Given the description of an element on the screen output the (x, y) to click on. 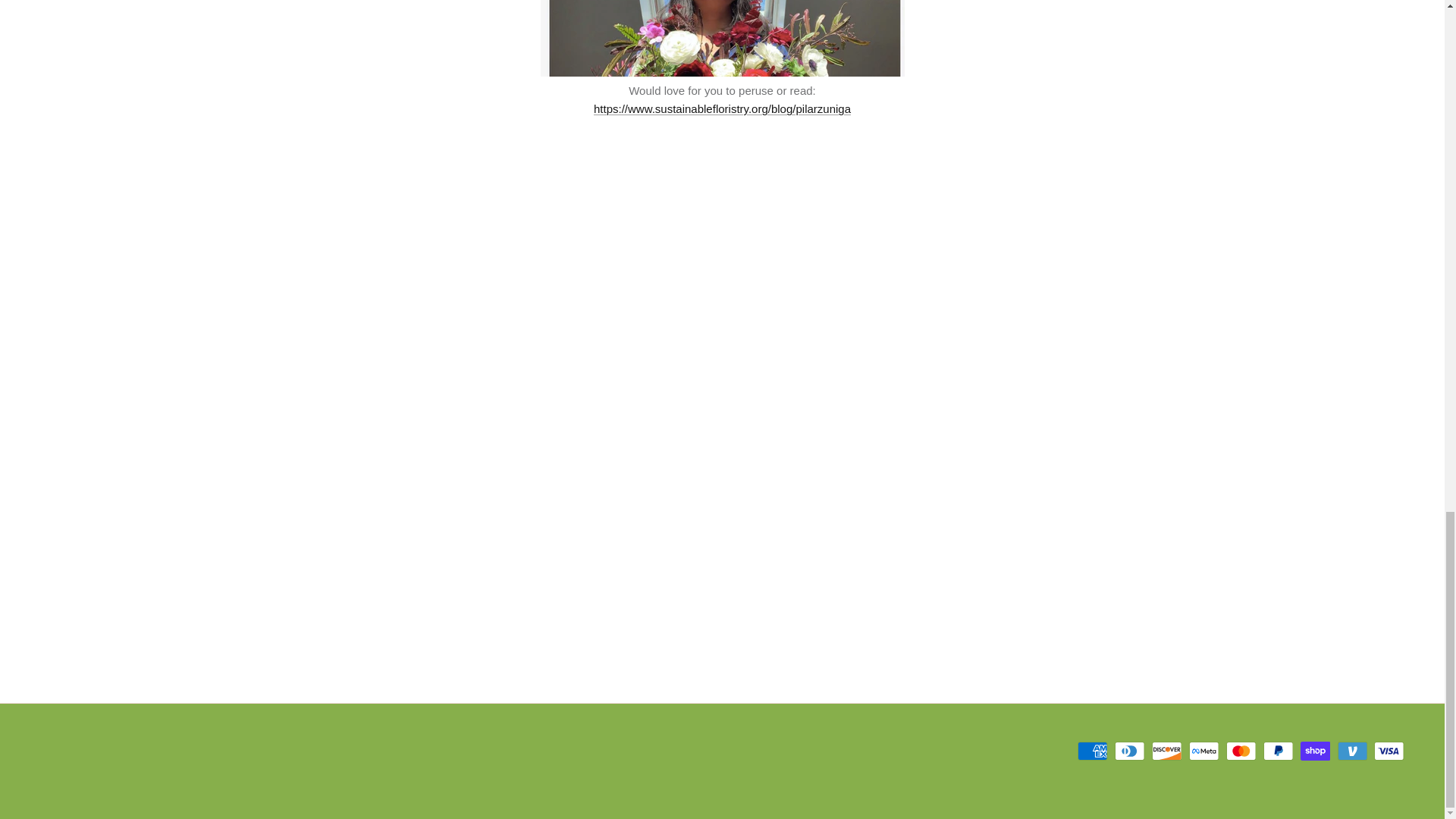
Shop Pay (1315, 751)
Visa (1388, 751)
Venmo (1352, 751)
Mastercard (1240, 751)
PayPal (1277, 751)
American Express (1092, 751)
Diners Club (1129, 751)
Meta Pay (1203, 751)
Discover (1166, 751)
